Given the description of an element on the screen output the (x, y) to click on. 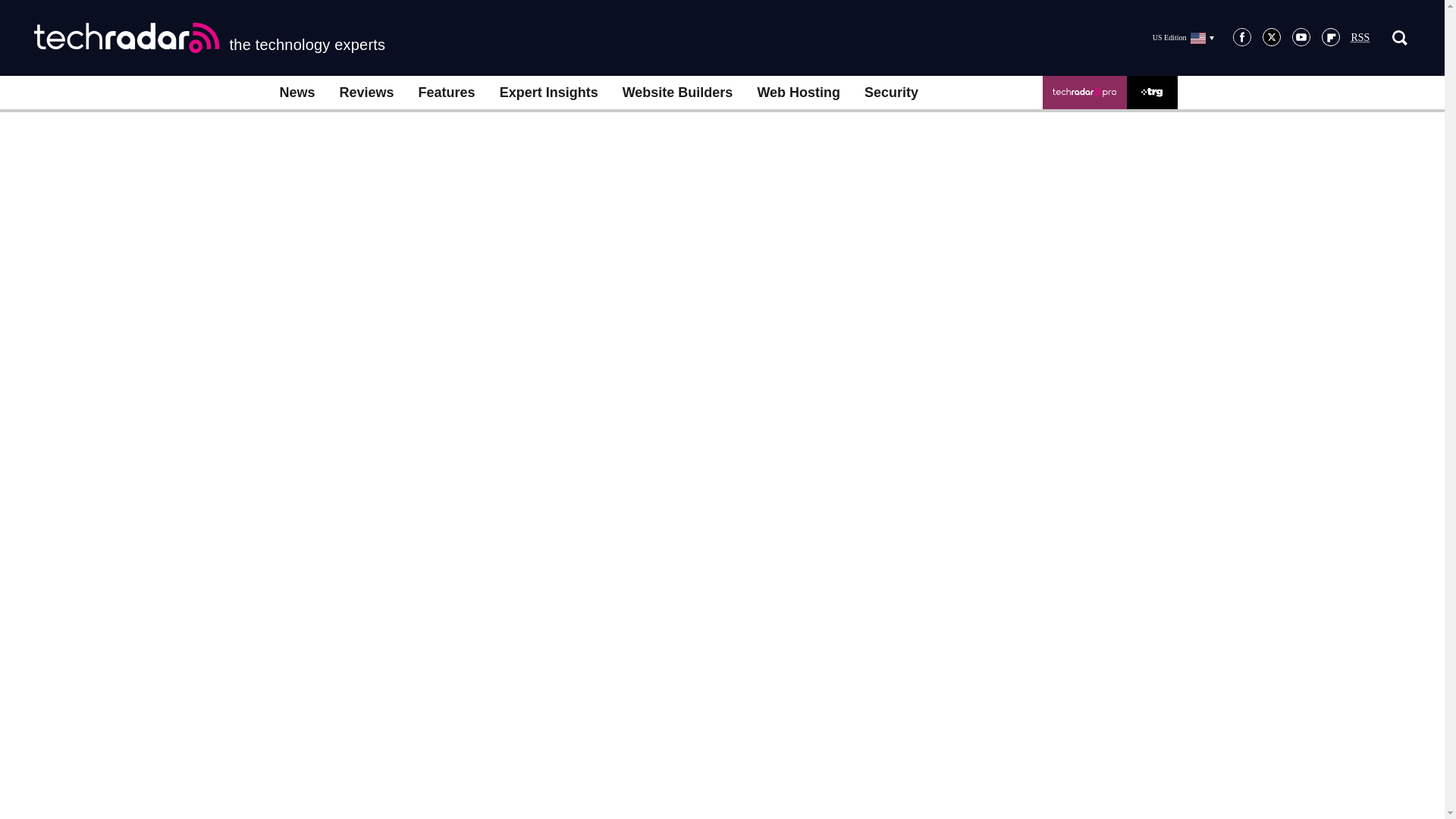
the technology experts (209, 38)
Expert Insights (548, 92)
Web Hosting (797, 92)
Security (890, 92)
Website Builders (677, 92)
Reviews (366, 92)
News (296, 92)
US Edition (1182, 37)
Features (446, 92)
Really Simple Syndication (1360, 37)
